Given the description of an element on the screen output the (x, y) to click on. 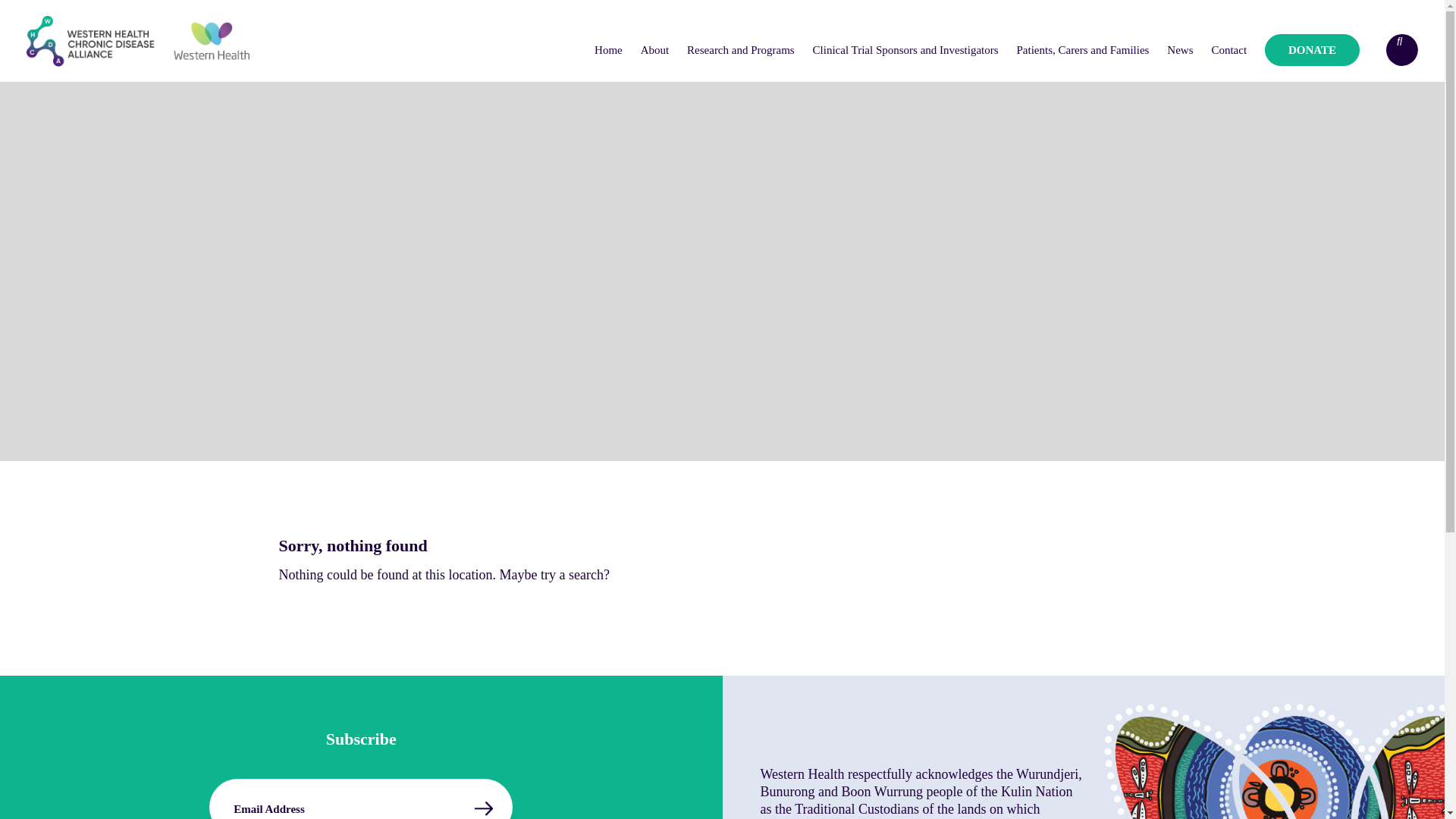
DONATE Element type: text (1311, 49)
Patients, Carers and Families Element type: text (1082, 49)
Research and Programs Element type: text (740, 49)
Contact Element type: text (1228, 49)
Clinical Trial Sponsors and Investigators Element type: text (905, 49)
Home Element type: text (608, 49)
About Element type: text (655, 49)
News Element type: text (1179, 49)
